Given the description of an element on the screen output the (x, y) to click on. 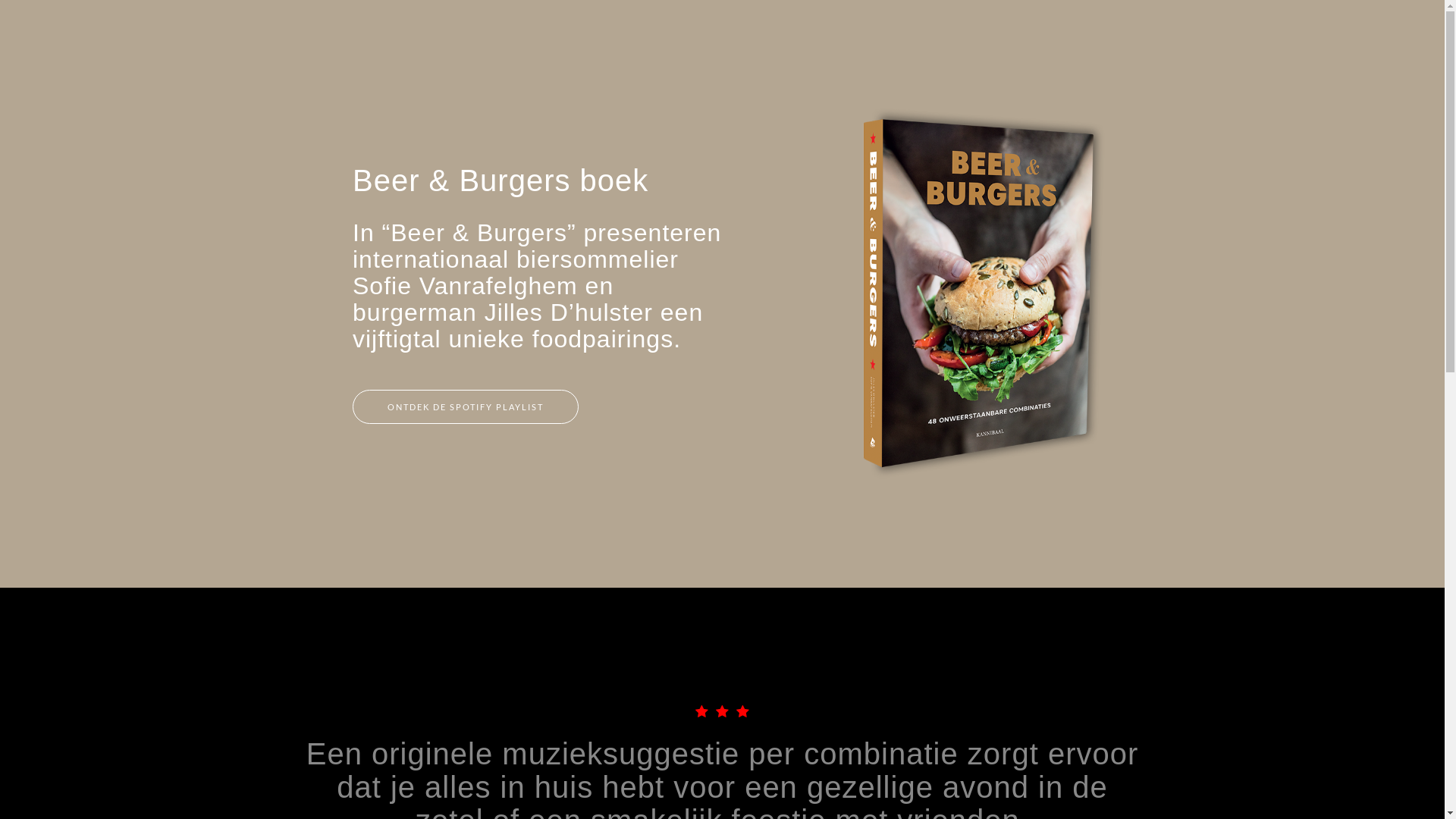
ONTDEK DE SPOTIFY PLAYLIST Element type: text (465, 406)
